Given the description of an element on the screen output the (x, y) to click on. 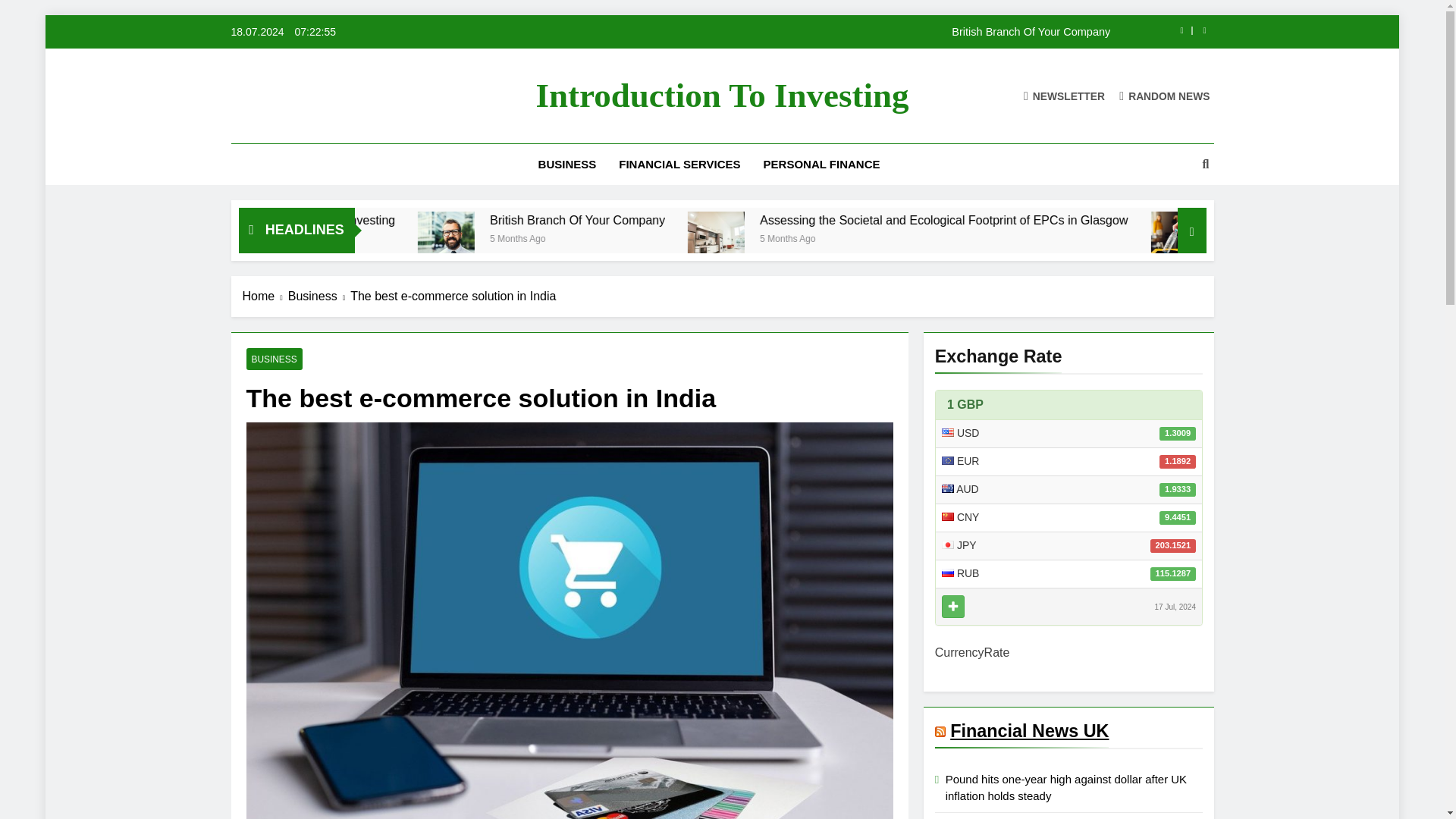
BUSINESS (567, 164)
British Branch Of Your Company (817, 31)
Importance of Learning in Investing (434, 219)
British Branch Of Your Company (578, 239)
PERSONAL FINANCE (821, 164)
Importance of Learning in Investing (491, 219)
5 Months Ago (962, 237)
Introduction To Investing (721, 95)
British Branch Of Your Company (702, 219)
4 Months Ago (420, 237)
NEWSLETTER (1064, 95)
British Branch Of Your Company (817, 31)
British Branch Of Your Company (575, 239)
FINANCIAL SERVICES (679, 164)
